Given the description of an element on the screen output the (x, y) to click on. 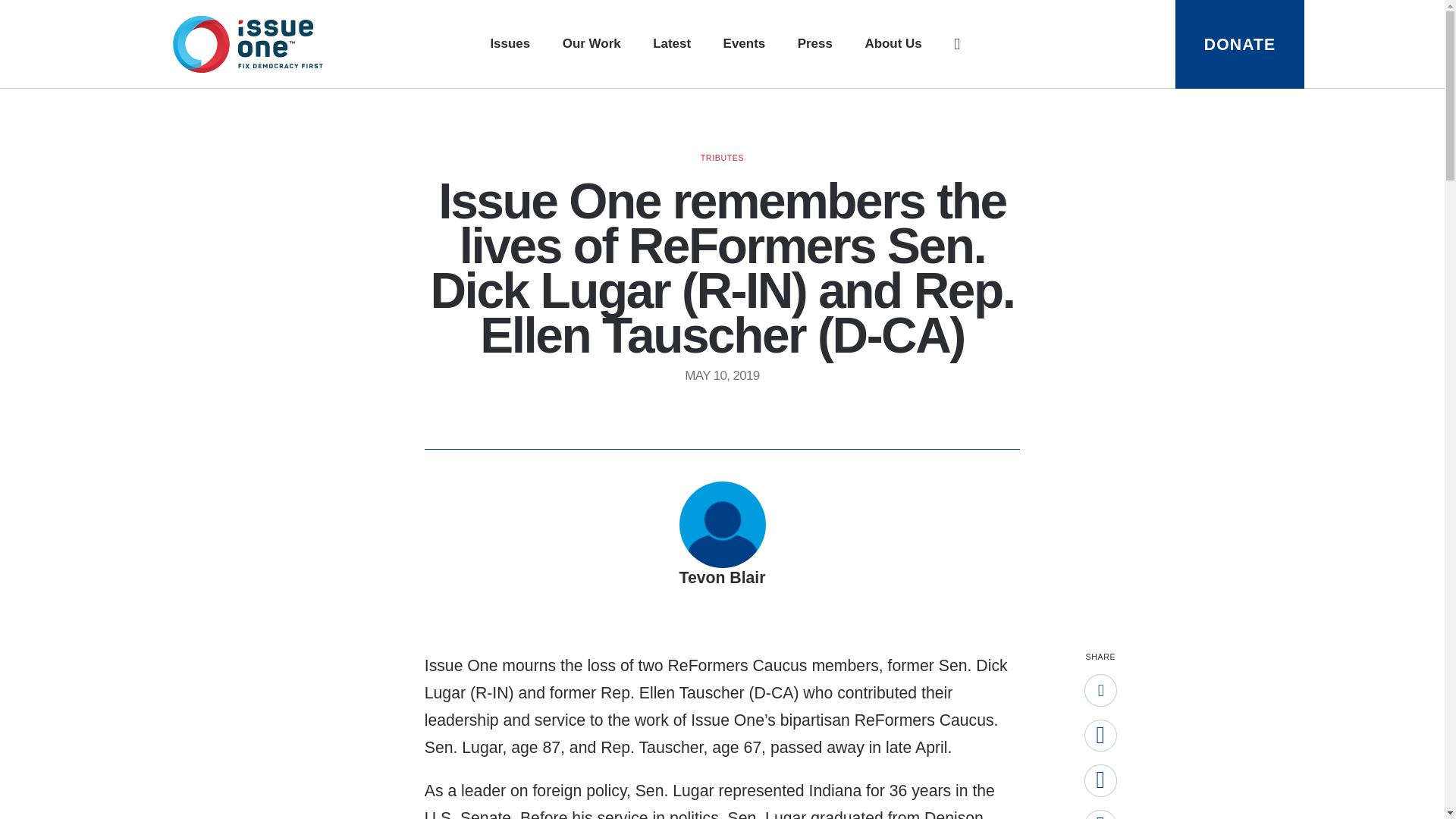
Latest (671, 44)
Our Work (591, 44)
Events (744, 44)
DONATE (1239, 44)
About Us (892, 44)
Issues (509, 44)
Press (814, 44)
